Given the description of an element on the screen output the (x, y) to click on. 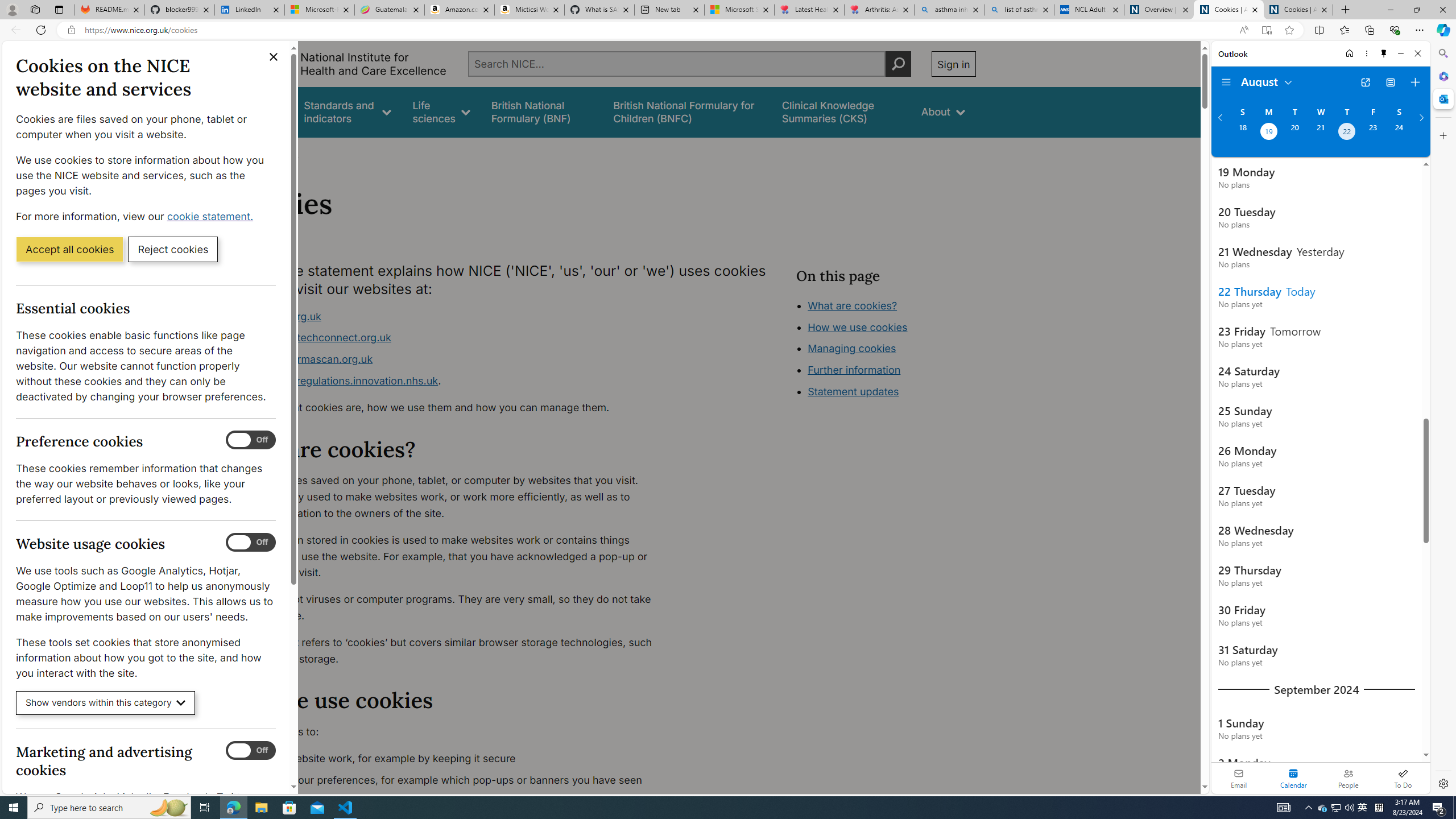
Preference cookies (250, 439)
